Given the description of an element on the screen output the (x, y) to click on. 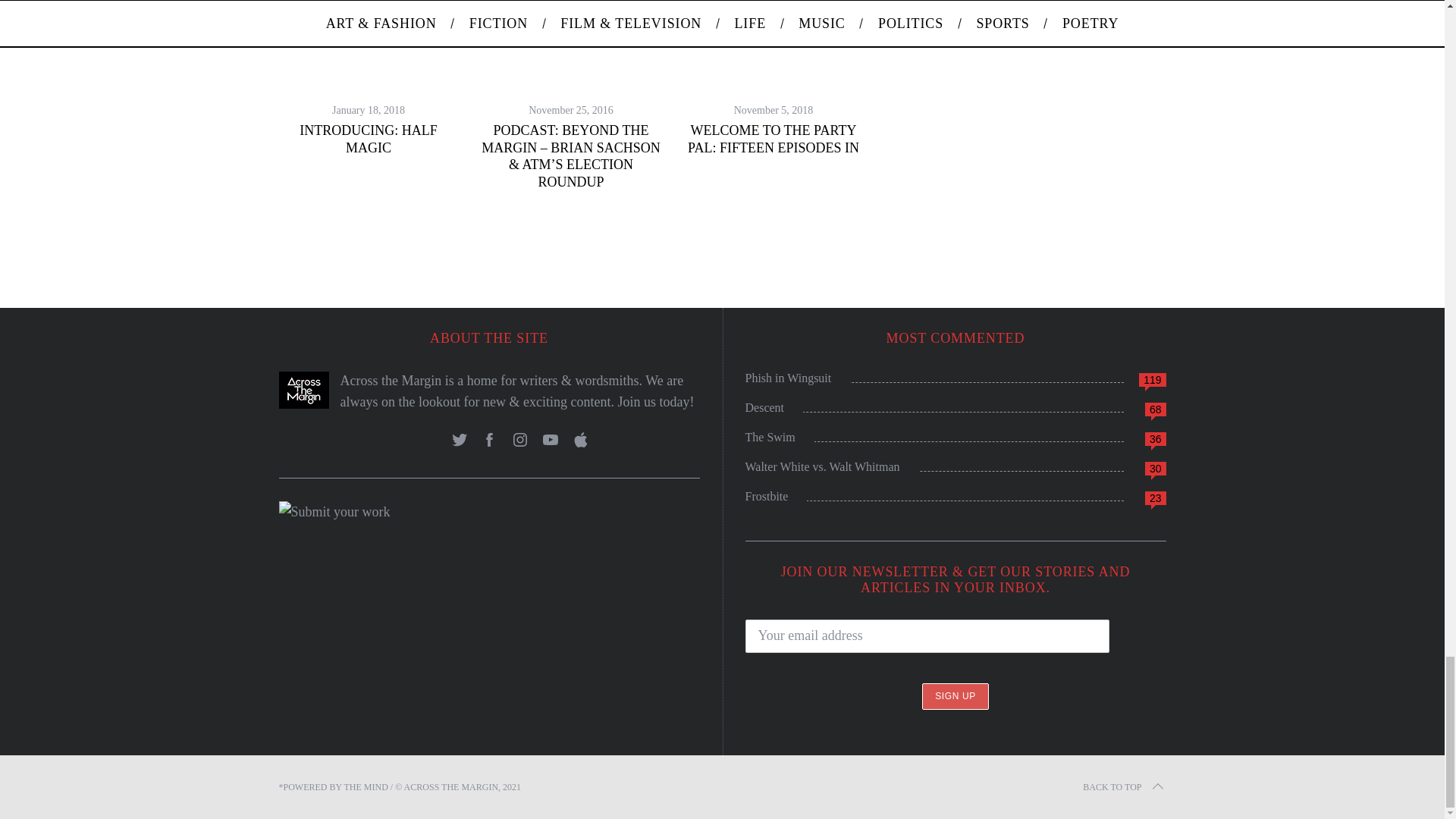
INTRODUCING: HALF MAGIC (368, 138)
WELCOME TO THE PARTY PAL: FIFTEEN EPISODES IN (773, 138)
Sign up (954, 696)
